Given the description of an element on the screen output the (x, y) to click on. 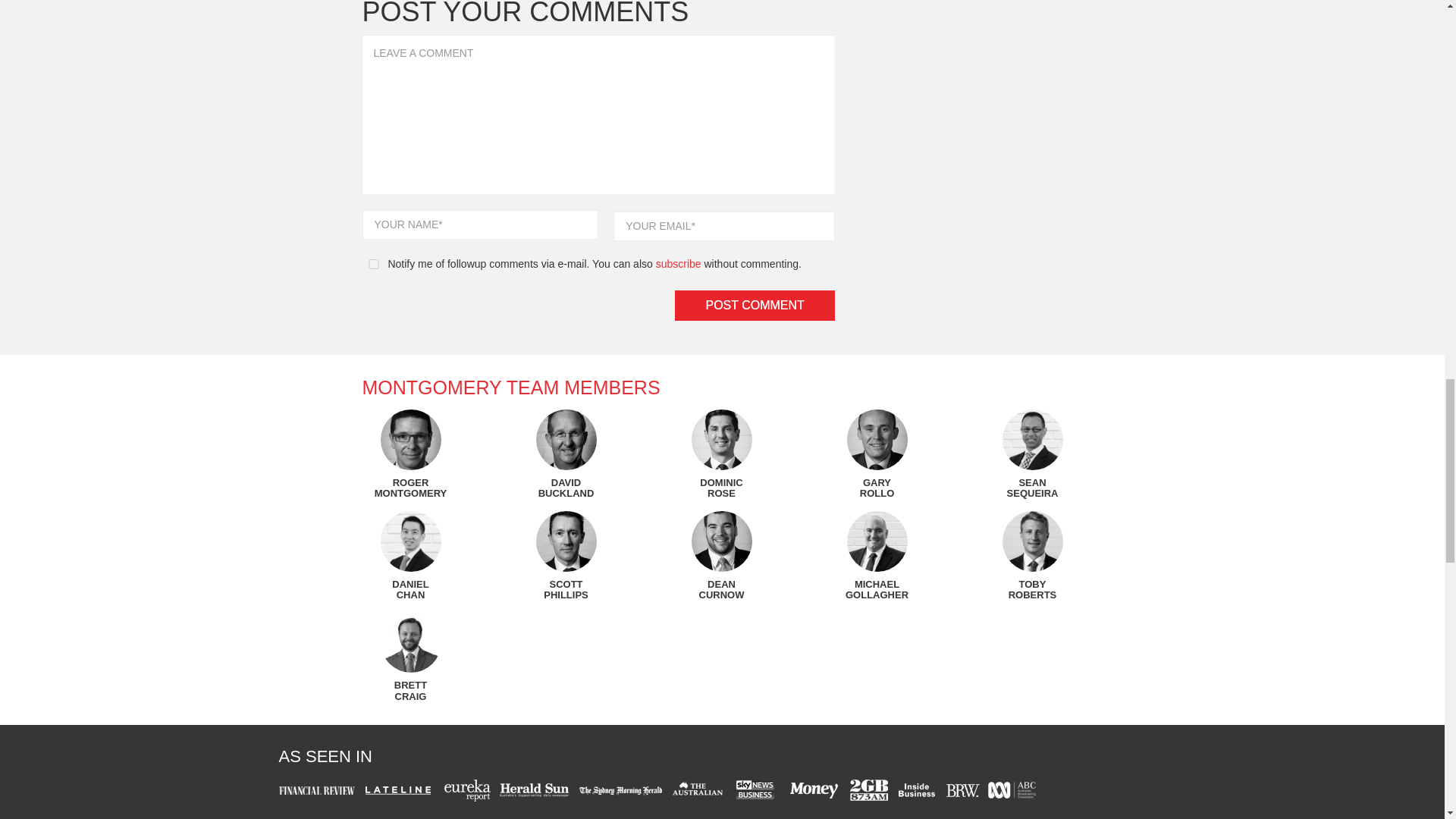
yes (373, 264)
Post Comment (754, 305)
